Given the description of an element on the screen output the (x, y) to click on. 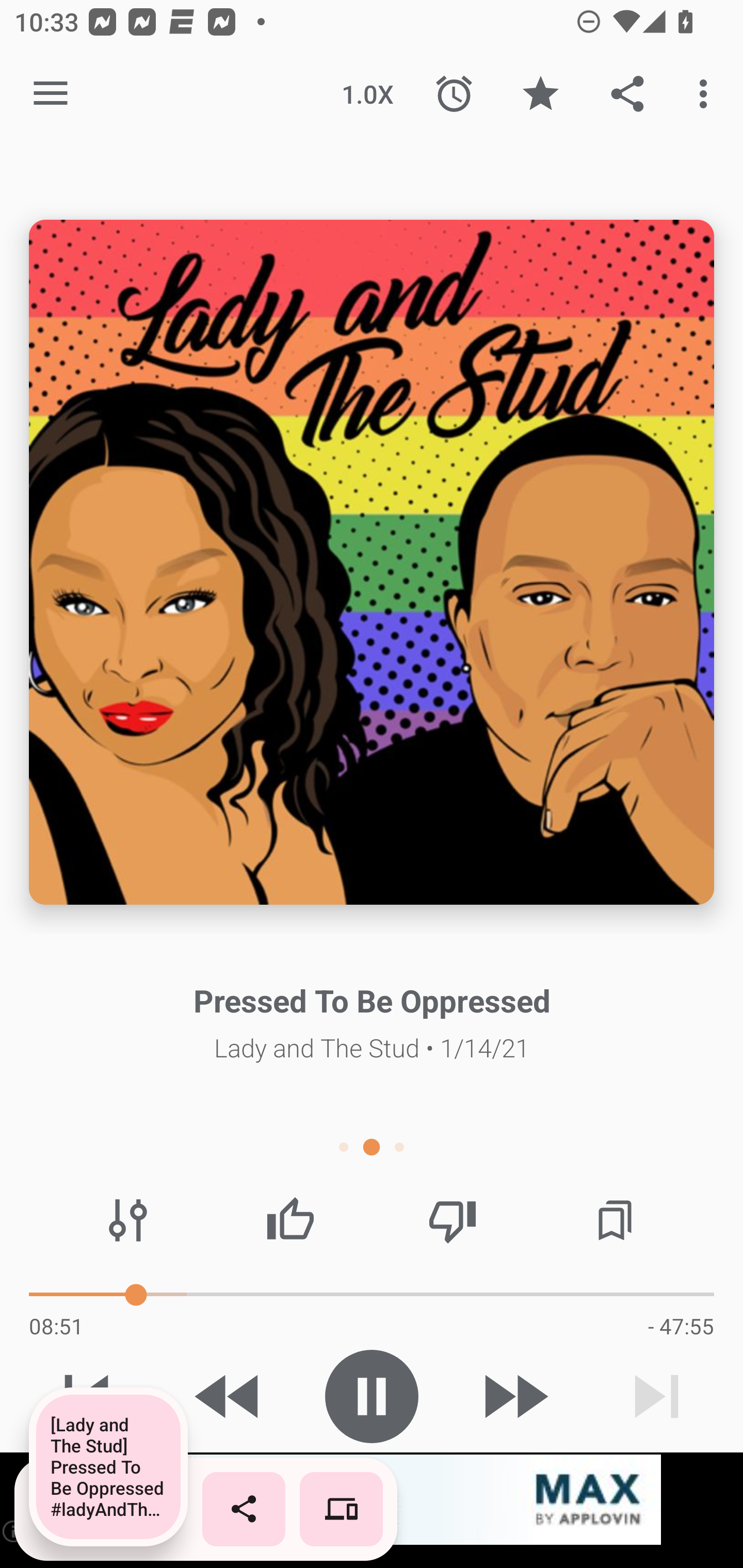
Open navigation sidebar (50, 93)
1.0X (366, 93)
Sleep Timer (453, 93)
UnFavorite (540, 93)
Share (626, 93)
More options (706, 93)
Episode description (371, 561)
Audio effects (127, 1220)
Thumbs up (290, 1220)
Thumbs down (452, 1220)
Chapters / Bookmarks (614, 1220)
- 47:55 (680, 1325)
Previous track (86, 1395)
Skip 15s backward (228, 1395)
Play / Pause (371, 1395)
Skip 30s forward (513, 1395)
Next track (656, 1395)
app-monetization (371, 1500)
(i) (14, 1531)
